Given the description of an element on the screen output the (x, y) to click on. 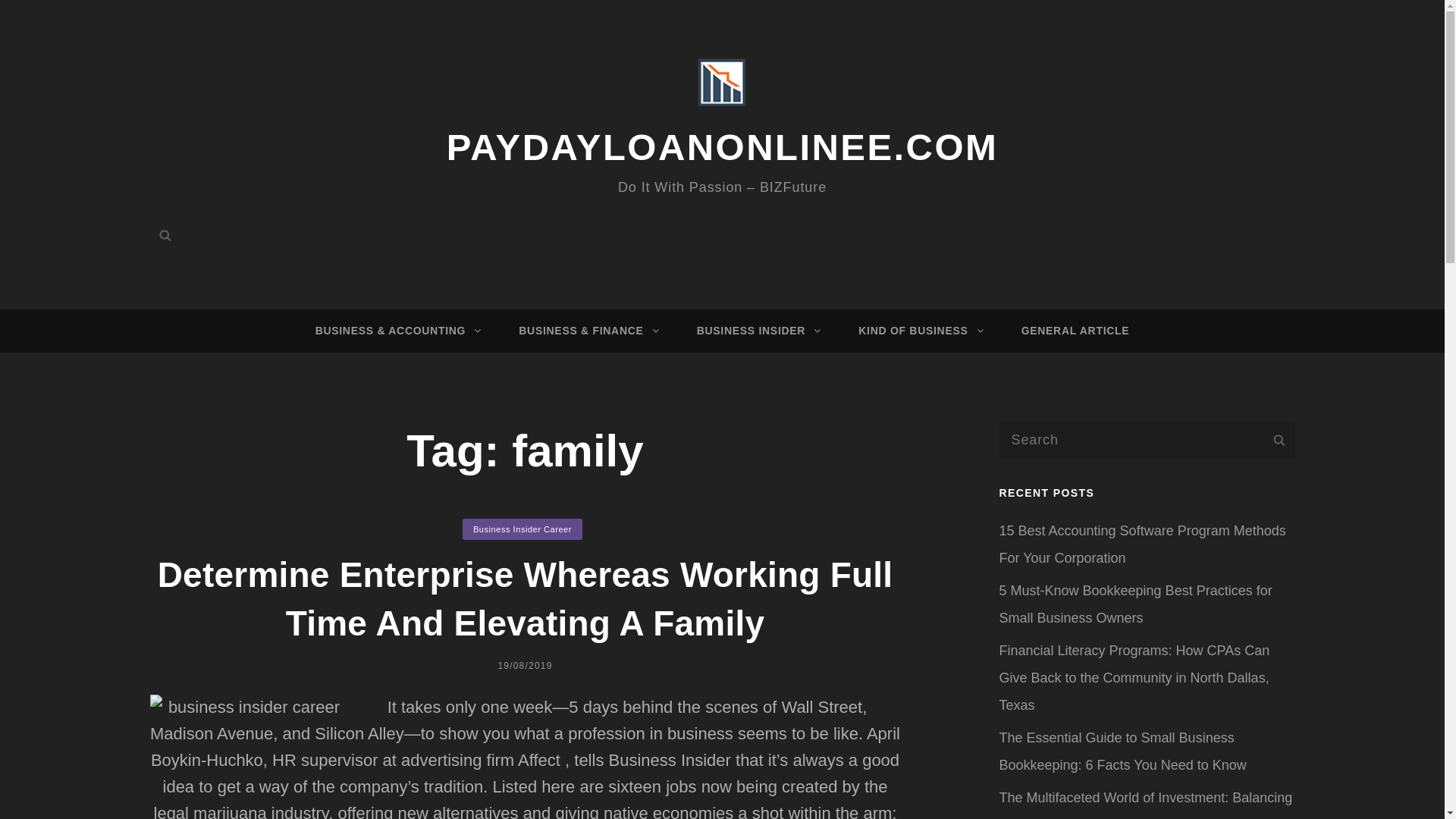
Search (164, 234)
KIND OF BUSINESS (918, 330)
GENERAL ARTICLE (1075, 330)
BUSINESS INSIDER (756, 330)
Business Insider Career (522, 528)
PAYDAYLOANONLINEE.COM (722, 146)
